Given the description of an element on the screen output the (x, y) to click on. 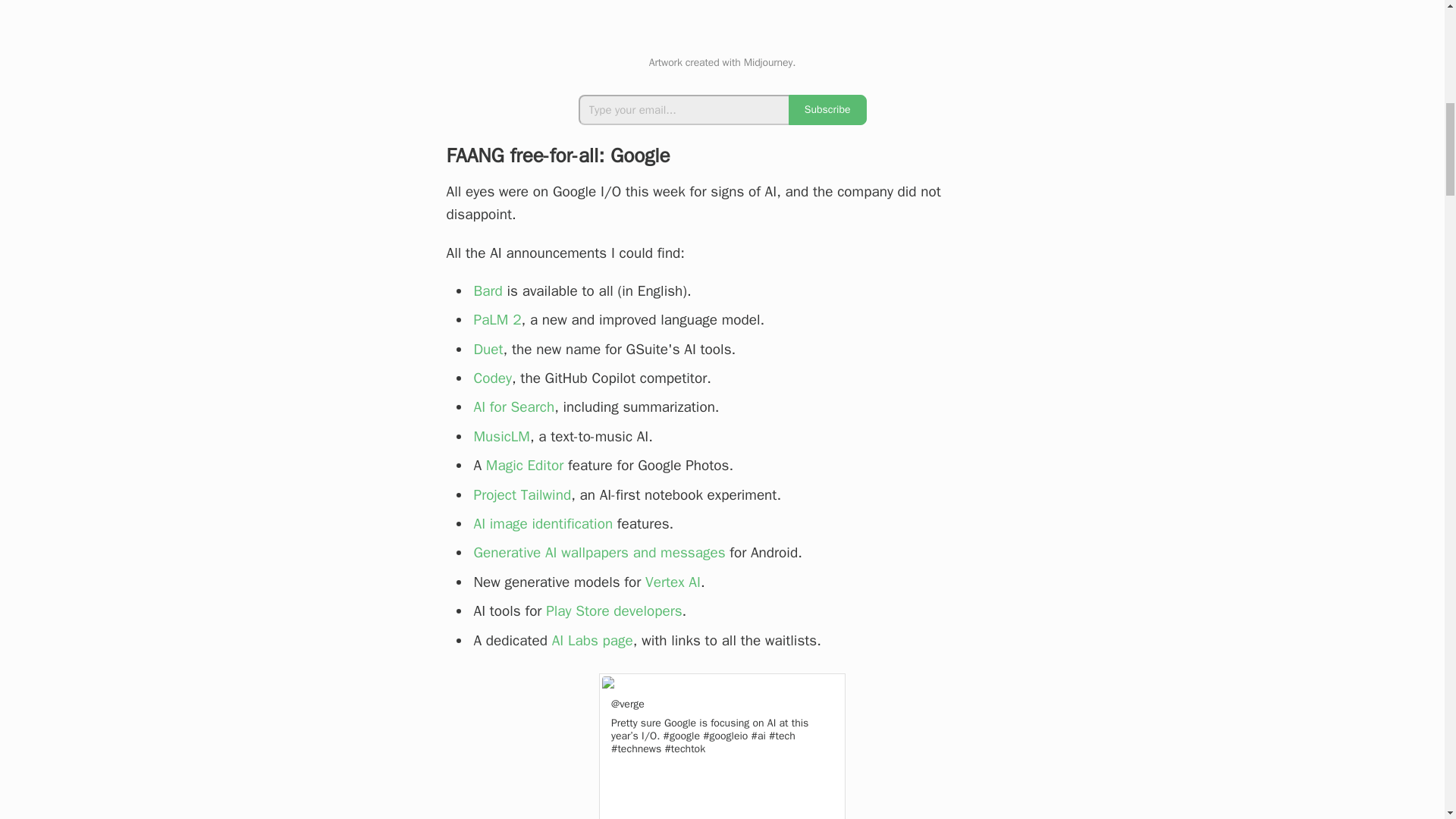
Vertex AI (672, 582)
Project Tailwind (521, 495)
Duet (487, 349)
PaLM 2 (497, 320)
Magic Editor (524, 465)
Play Store developers (613, 610)
Subscribe (827, 110)
Generative AI wallpapers and messages (599, 552)
AI image identification (542, 524)
MusicLM (501, 436)
AI for Search (513, 407)
Bard (487, 290)
AI Labs page (592, 640)
Codey (492, 378)
